Given the description of an element on the screen output the (x, y) to click on. 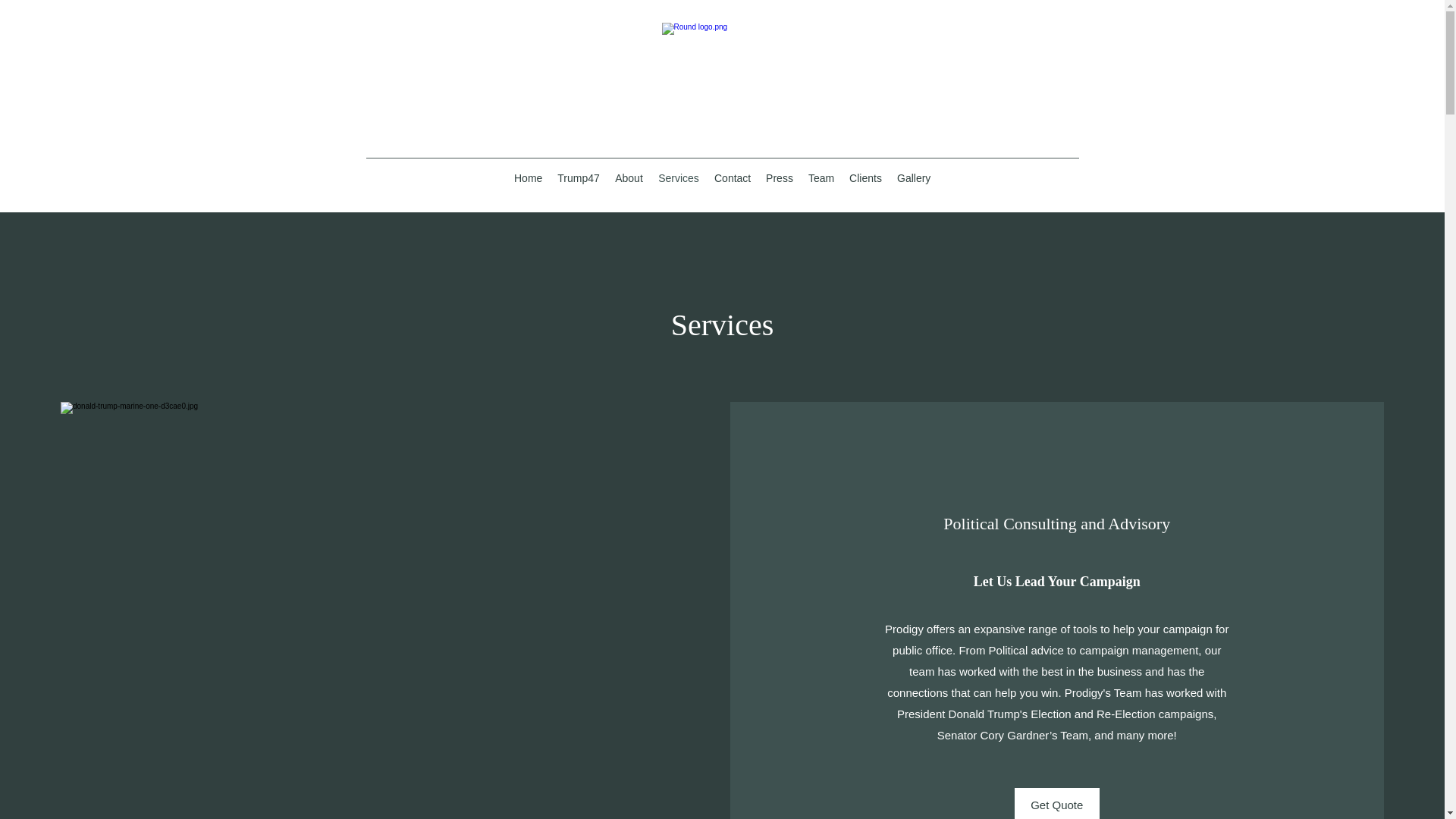
Contact (732, 178)
Trump47 (578, 178)
Clients (865, 178)
Home (528, 178)
About (628, 178)
Team (820, 178)
Get Quote (1056, 803)
Services (678, 178)
Gallery (913, 178)
Press (779, 178)
